Given the description of an element on the screen output the (x, y) to click on. 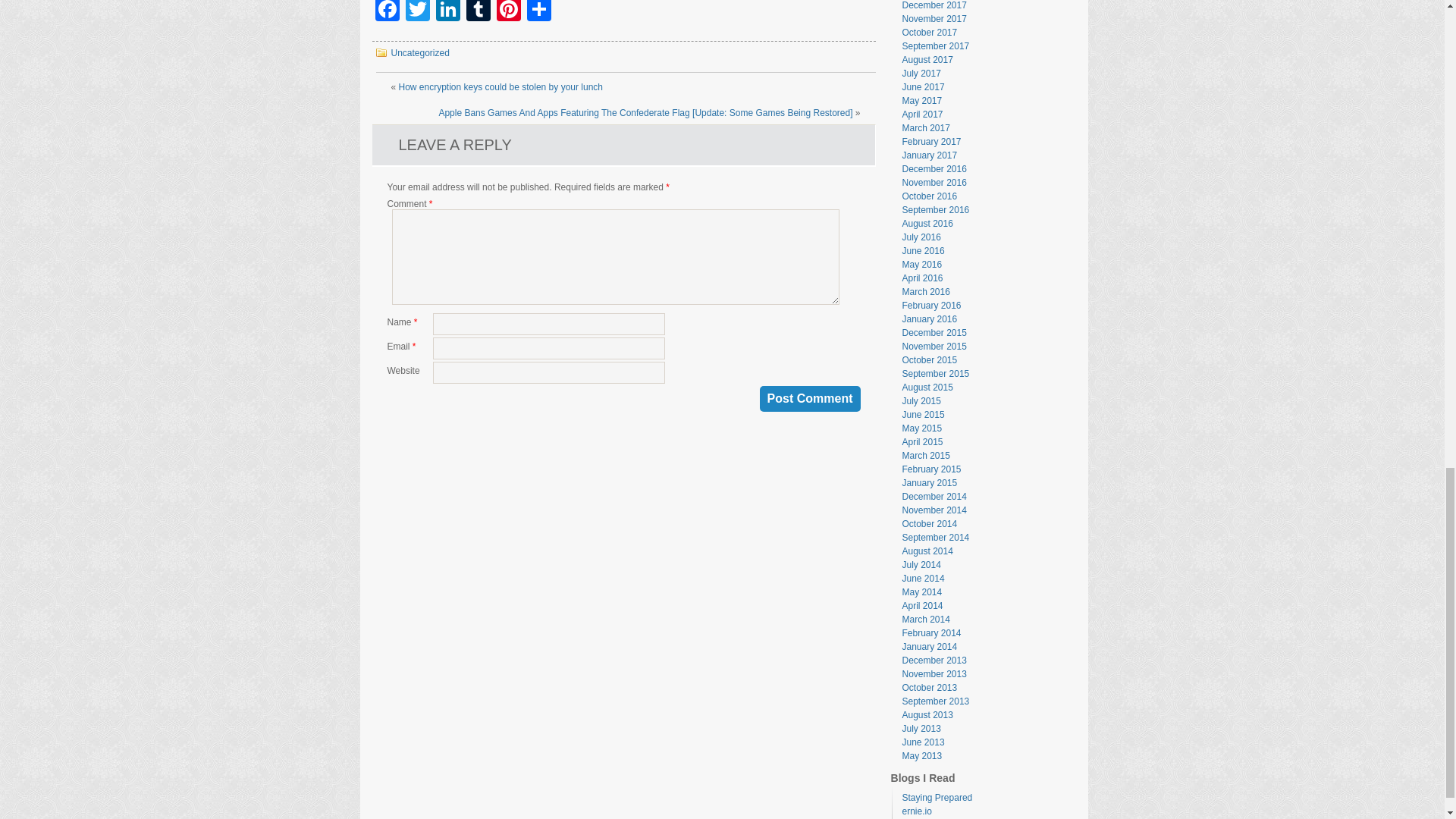
LinkedIn (447, 12)
Post Comment (810, 398)
Tumblr (478, 12)
Uncategorized (420, 52)
Pinterest (507, 12)
Twitter (416, 12)
Facebook (386, 12)
Pinterest (507, 12)
LinkedIn (447, 12)
Twitter (416, 12)
